Given the description of an element on the screen output the (x, y) to click on. 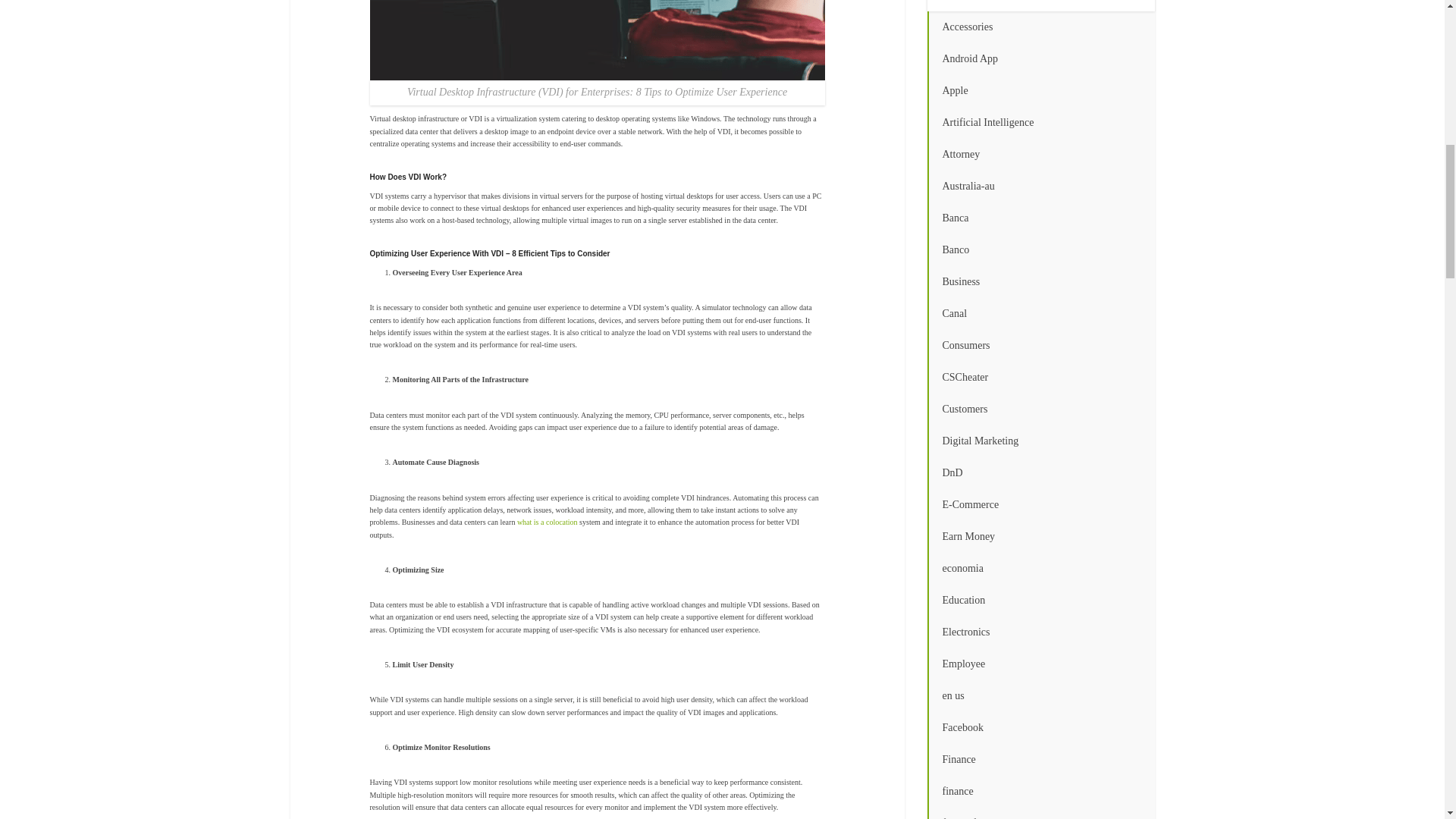
Apple (1040, 91)
Artificial Intelligence (1040, 122)
what is a colocation (547, 521)
Android App (1040, 59)
Accessories (1040, 27)
